Given the description of an element on the screen output the (x, y) to click on. 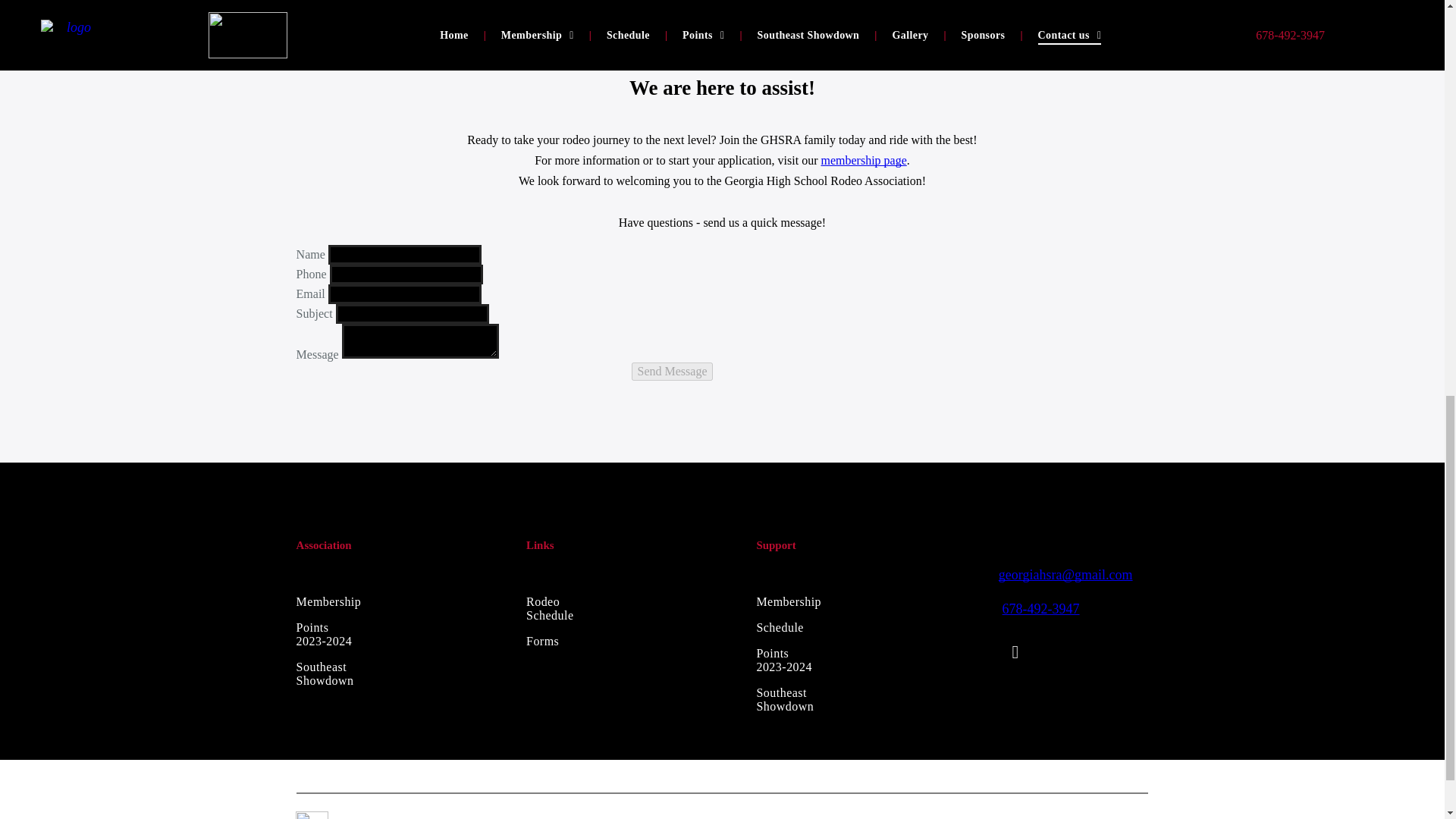
Send Message (671, 371)
Send Message (671, 371)
